Given the description of an element on the screen output the (x, y) to click on. 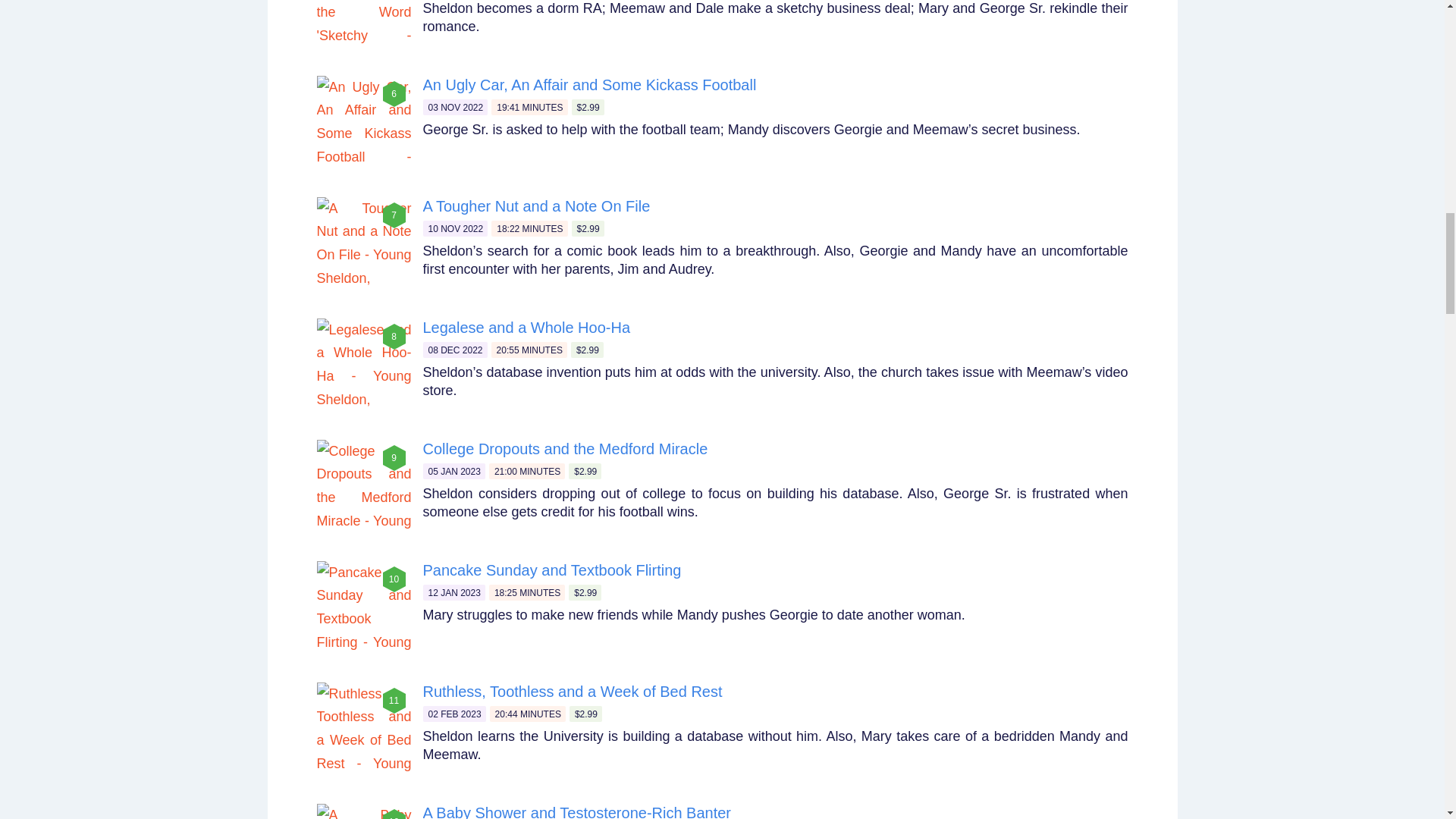
Ruthless, Toothless and a Week of Bed Rest (572, 691)
Pancake Sunday and Textbook Flirting (552, 569)
A Tougher Nut and a Note On File (536, 206)
Legalese and a Whole Hoo-Ha (526, 327)
College Dropouts and the Medford Miracle (565, 448)
